Given the description of an element on the screen output the (x, y) to click on. 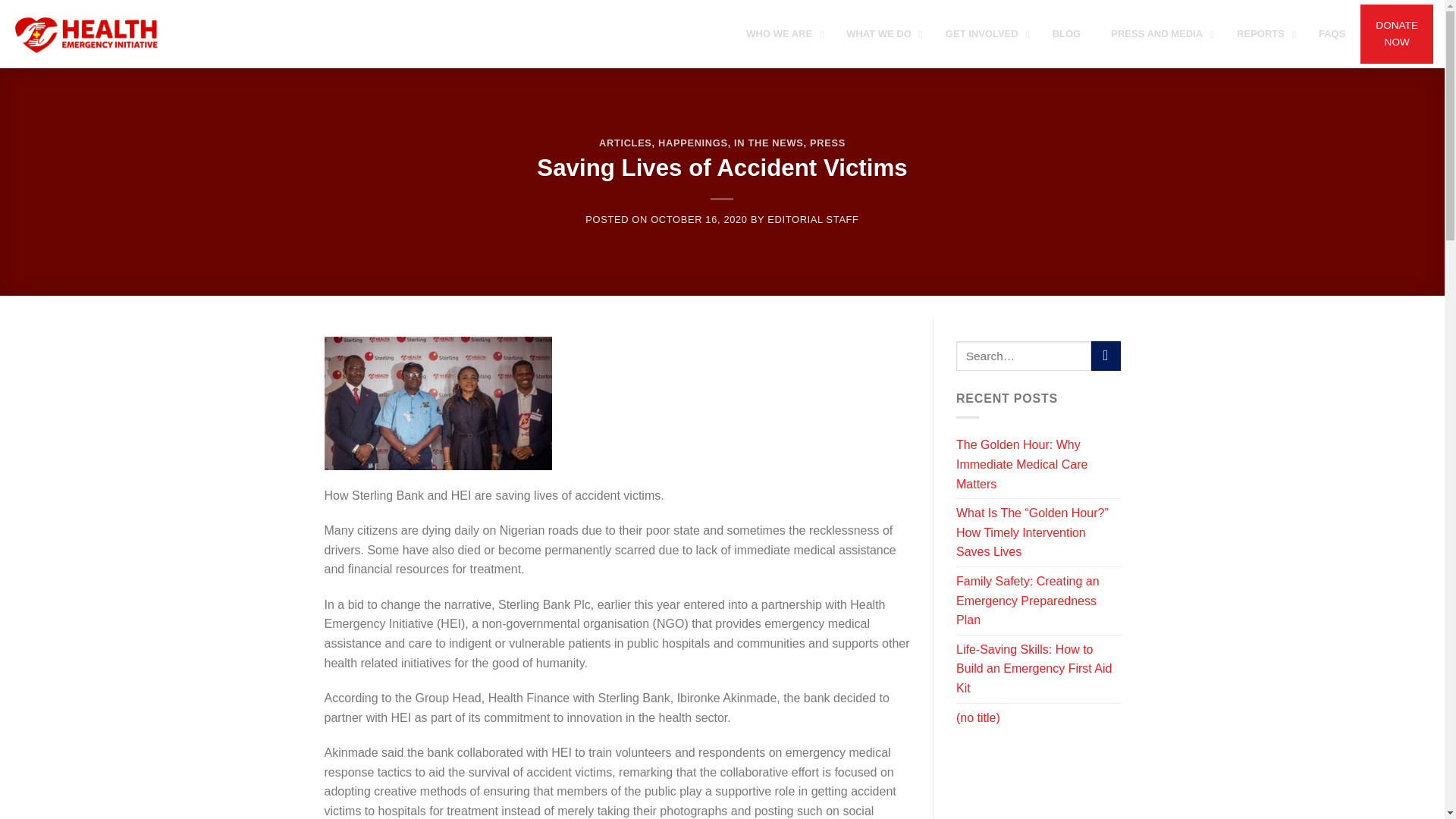
ARTICLES (625, 142)
IN THE NEWS (768, 142)
REPORTS (1262, 34)
PRESS (827, 142)
PRESS AND MEDIA (1158, 34)
FAQS (1331, 34)
Health Emergency Initiative - Saving Lives! (87, 34)
EDITORIAL STAFF (813, 219)
WHAT WE DO (880, 34)
HAPPENINGS (693, 142)
